Given the description of an element on the screen output the (x, y) to click on. 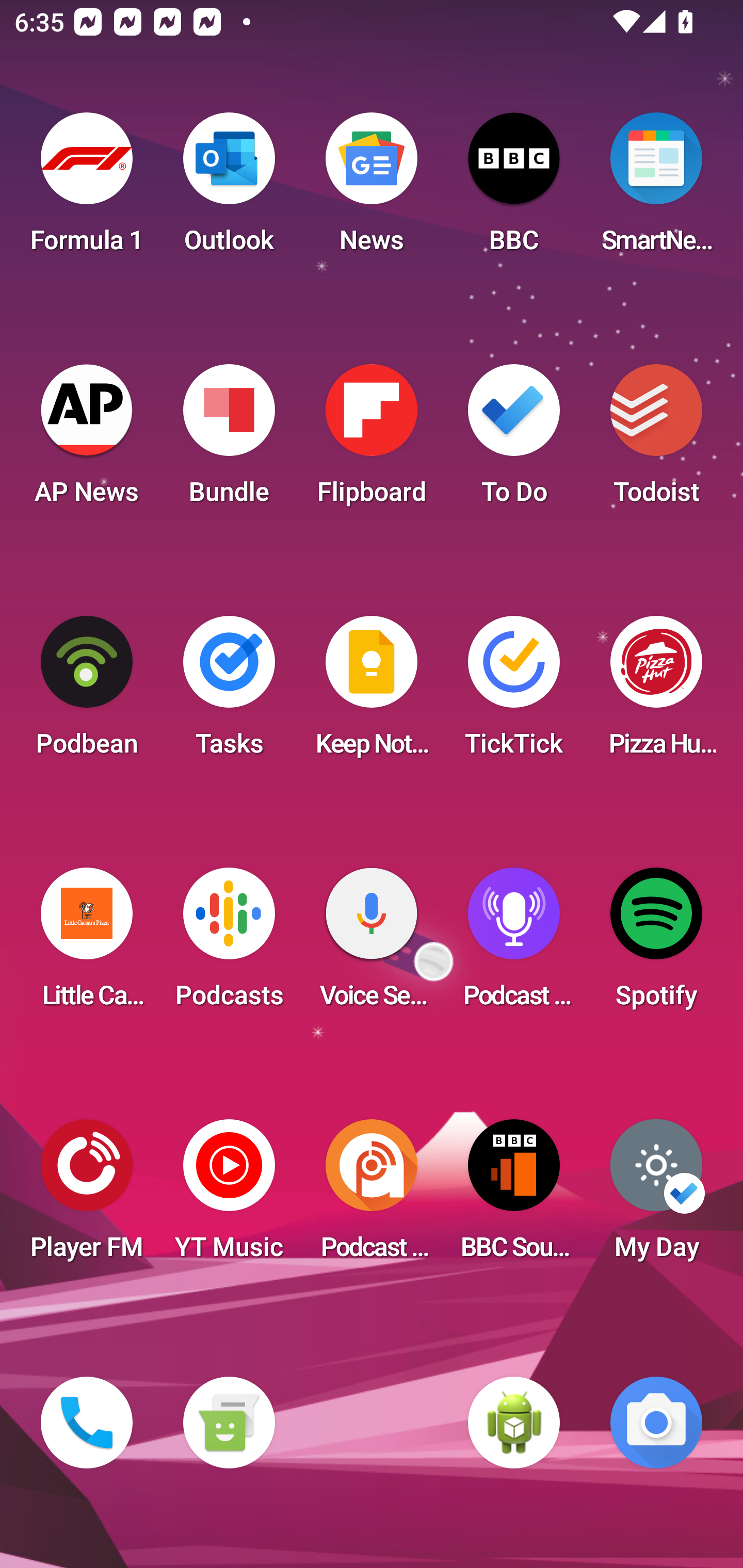
Formula 1 (86, 188)
Outlook (228, 188)
News (371, 188)
BBC (513, 188)
SmartNews (656, 188)
AP News (86, 440)
Bundle (228, 440)
Flipboard (371, 440)
To Do (513, 440)
Todoist (656, 440)
Podbean (86, 692)
Tasks (228, 692)
Keep Notes (371, 692)
TickTick (513, 692)
Pizza Hut HK & Macau (656, 692)
Little Caesars Pizza (86, 943)
Podcasts (228, 943)
Voice Search (371, 943)
Podcast Player (513, 943)
Spotify (656, 943)
Player FM (86, 1195)
YT Music (228, 1195)
Podcast Addict (371, 1195)
BBC Sounds (513, 1195)
My Day (656, 1195)
Phone (86, 1422)
Messaging (228, 1422)
WebView Browser Tester (513, 1422)
Camera (656, 1422)
